Given the description of an element on the screen output the (x, y) to click on. 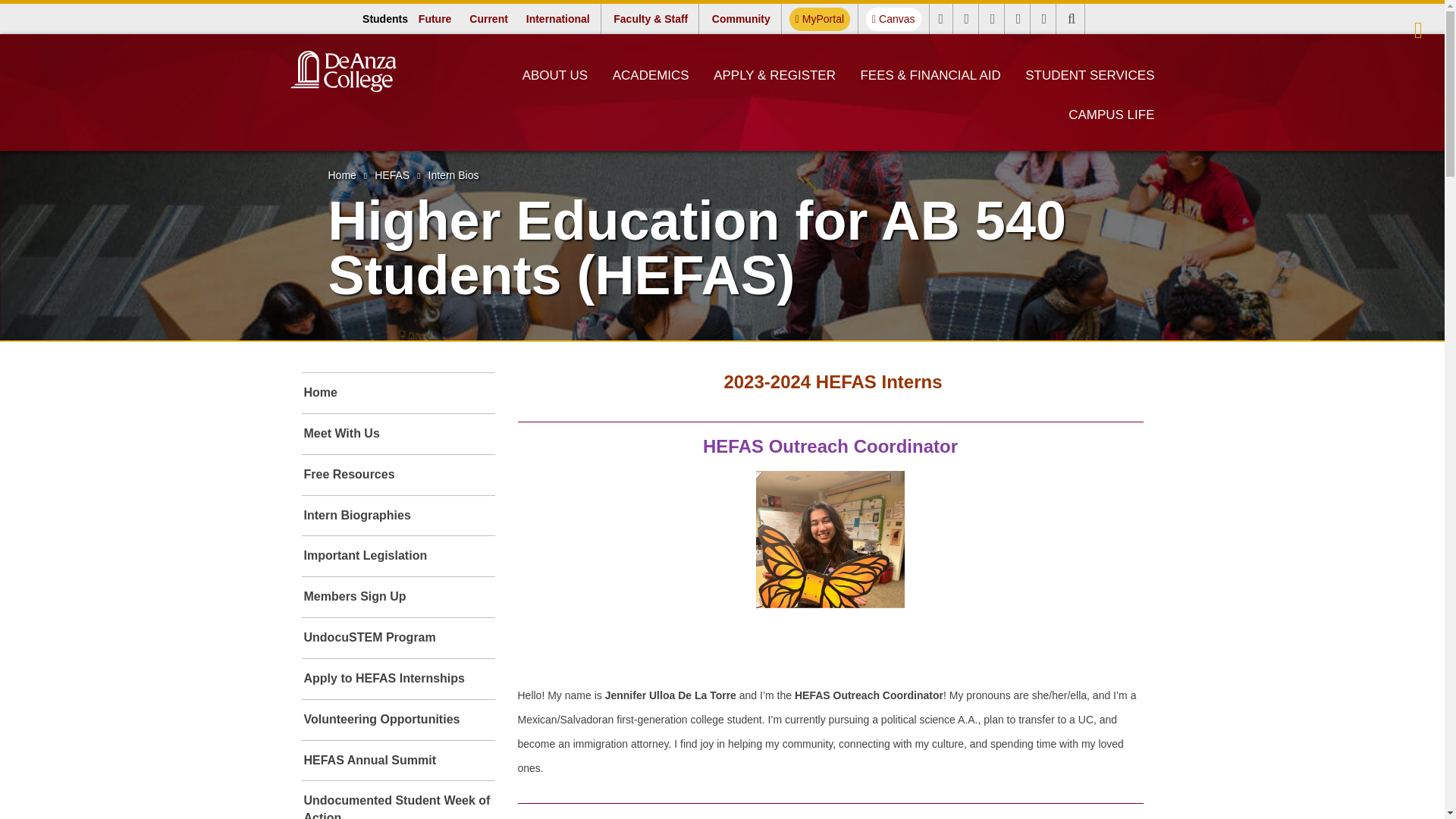
Home (398, 393)
Meet With Us (398, 434)
Current (488, 18)
Home (341, 174)
Apply to HEFAS Internships (398, 679)
Free Resources (398, 475)
STUDENT SERVICES (819, 19)
Undocumented Student Week of Action (1089, 75)
Members Sign Up (398, 800)
